Given the description of an element on the screen output the (x, y) to click on. 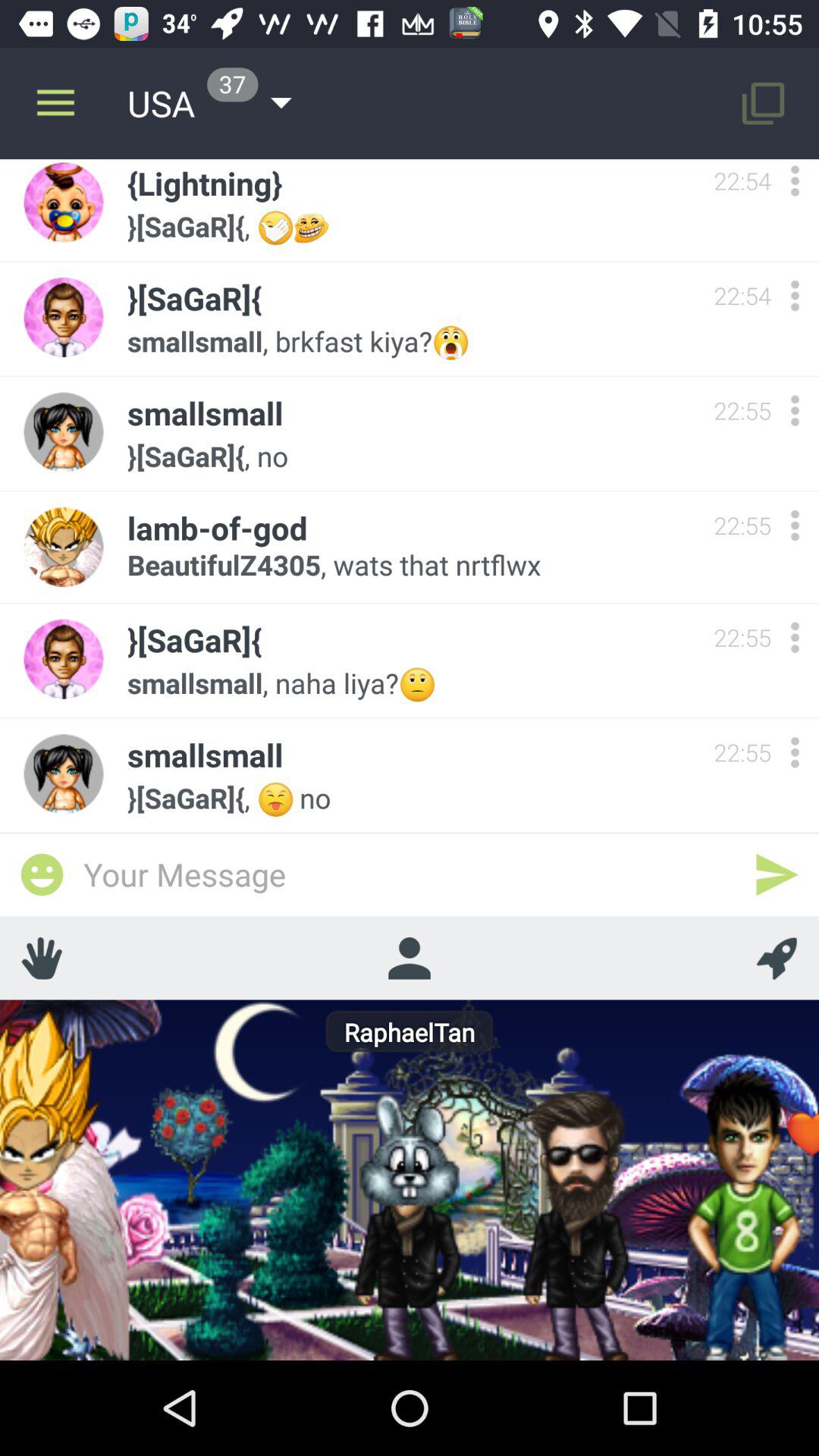
look up contact (409, 957)
